Given the description of an element on the screen output the (x, y) to click on. 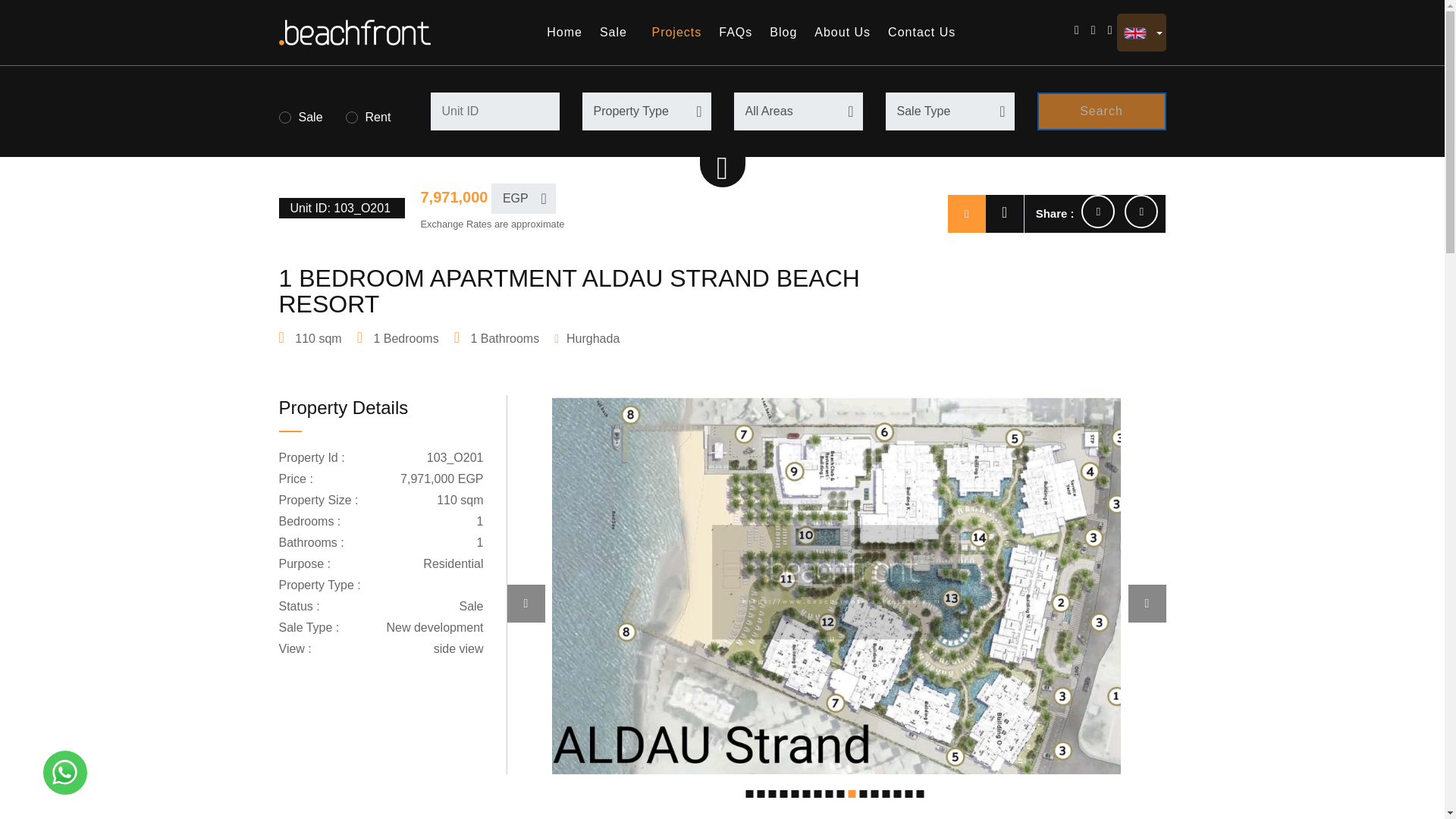
Home (567, 32)
FAQs (738, 32)
About Us (844, 32)
Sale (619, 32)
Contact Us (924, 32)
Blog (786, 32)
Search (1101, 111)
Projects (678, 32)
